Given the description of an element on the screen output the (x, y) to click on. 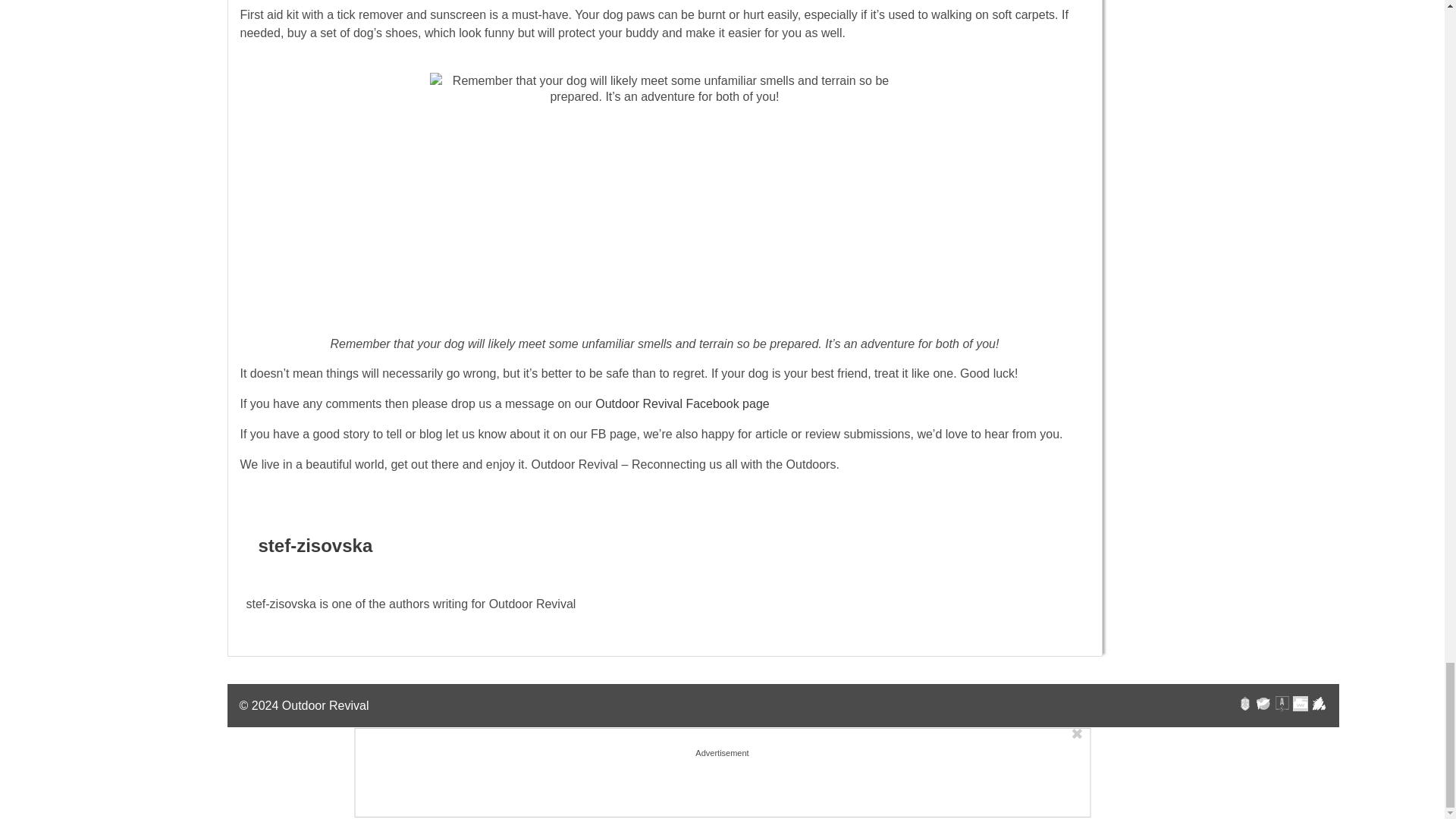
Outdoor Revival Facebook page (681, 403)
Outdoor Revival (325, 705)
stef-zisovska (314, 546)
